Given the description of an element on the screen output the (x, y) to click on. 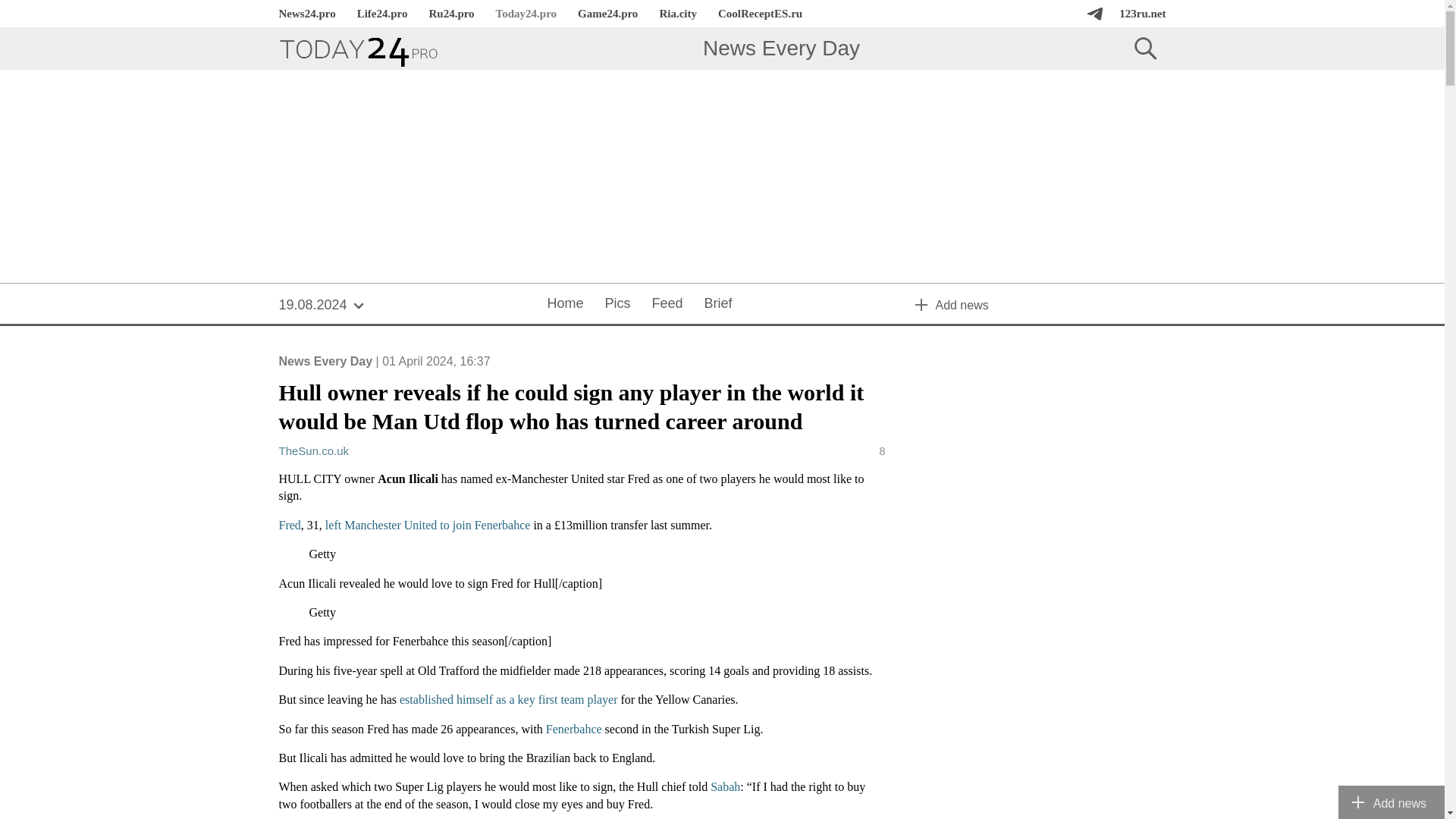
Ru24.pro (450, 13)
Add news (1040, 304)
Life24.pro (382, 13)
Home (564, 304)
Pics (618, 304)
News24.pro (306, 13)
Today24.pro (525, 13)
19.08.2024 (321, 304)
Ria.city (677, 13)
Brief (718, 304)
